Given the description of an element on the screen output the (x, y) to click on. 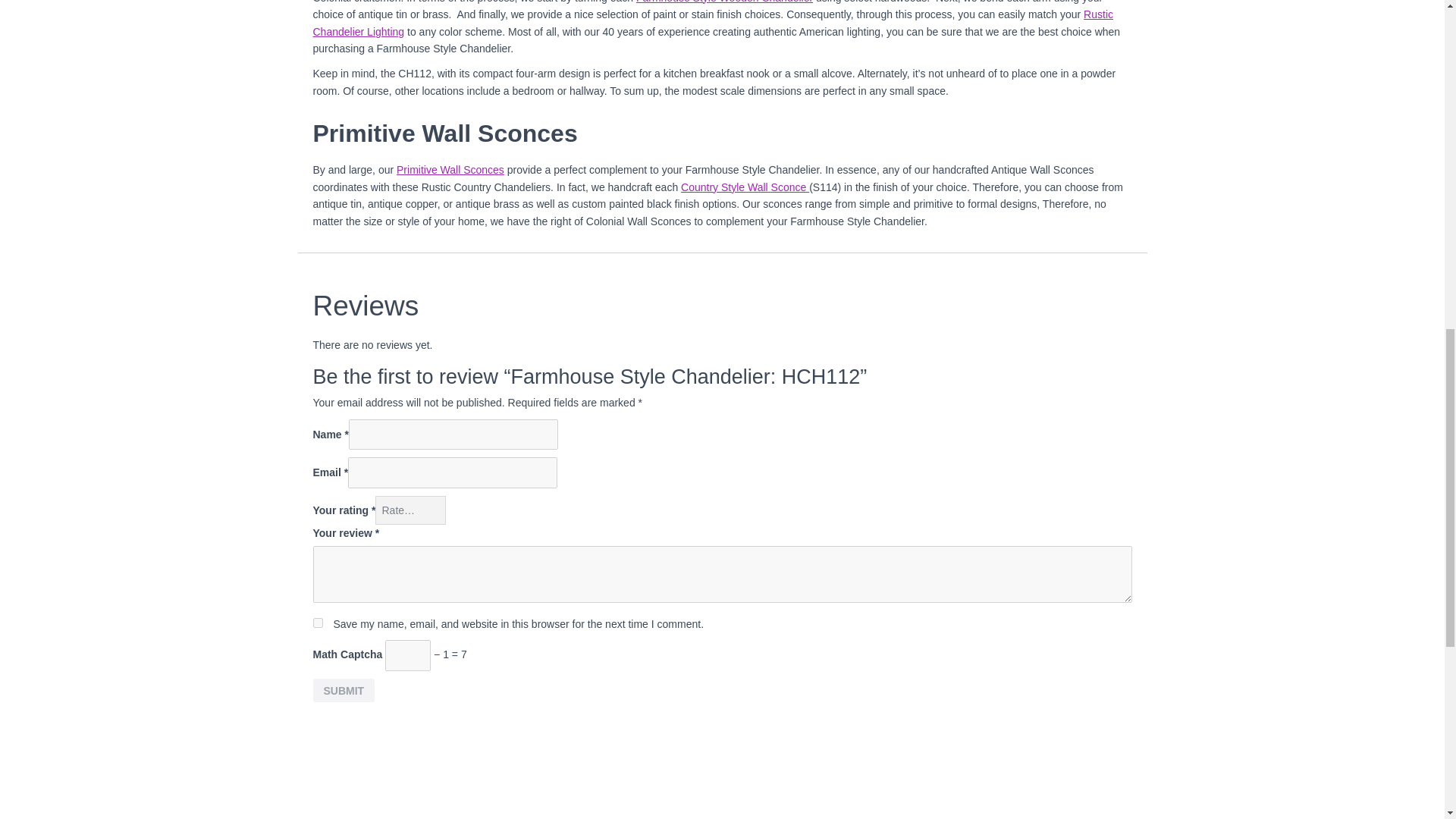
yes (317, 623)
Farmhouse Style Wooden Chandelier (724, 2)
Submit (343, 689)
